Given the description of an element on the screen output the (x, y) to click on. 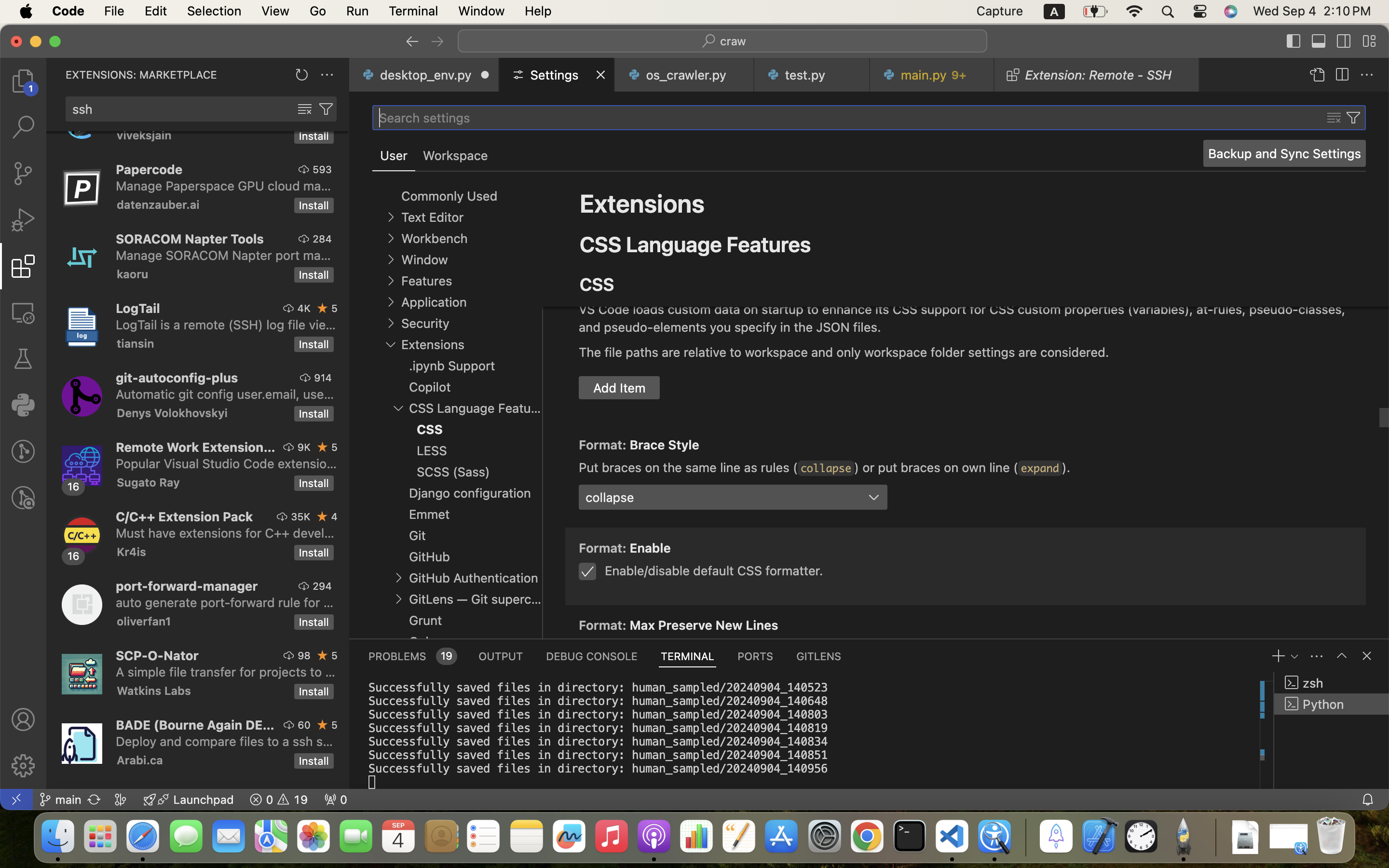
Features Element type: AXStaticText (426, 280)
Papercode Element type: AXStaticText (149, 169)
Enable/disable default CSS formatter. Element type: AXStaticText (713, 570)
Window Element type: AXStaticText (424, 259)
 Element type: AXButton (412, 41)
